Given the description of an element on the screen output the (x, y) to click on. 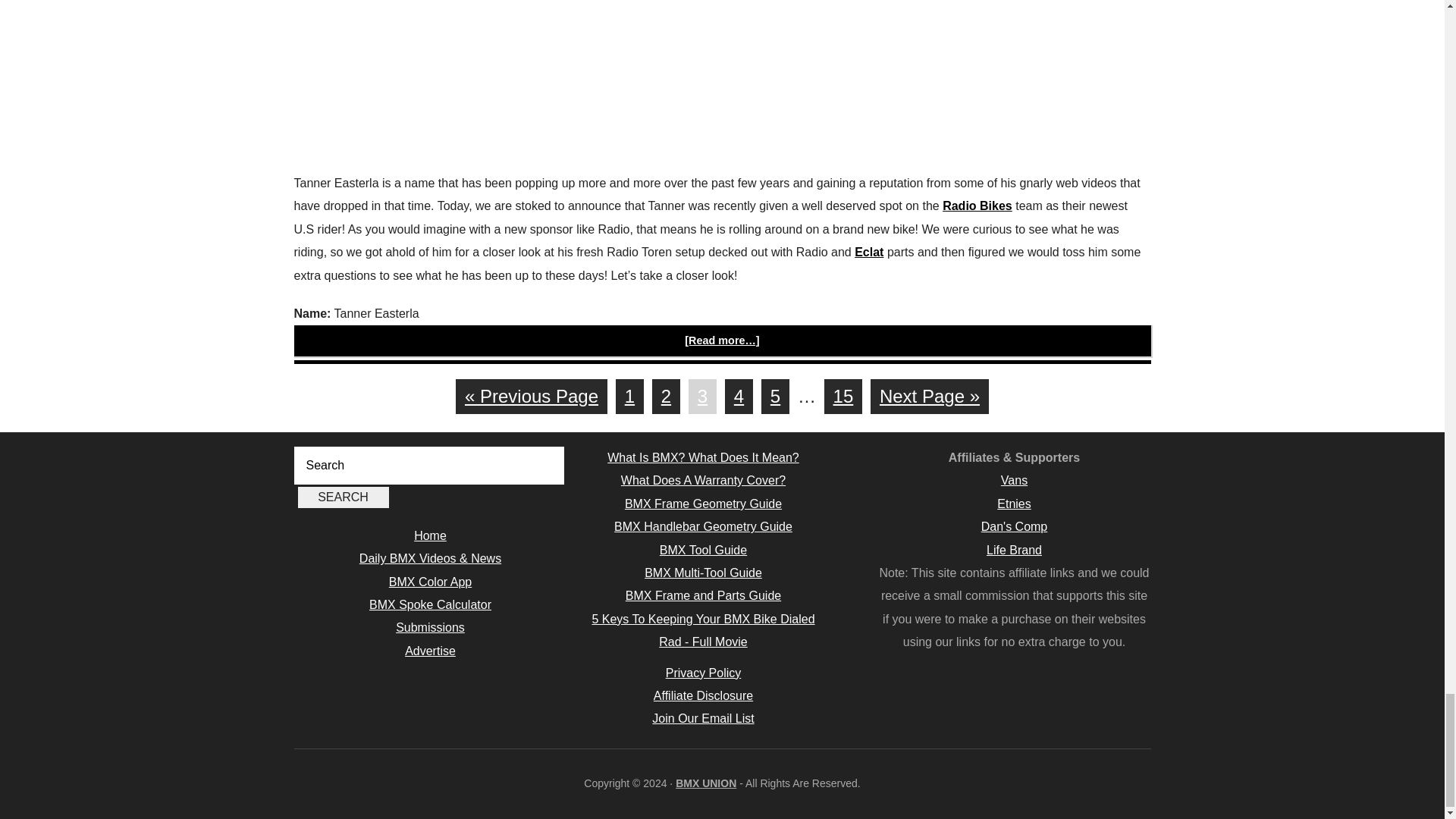
Search (342, 496)
Search (342, 496)
